Given the description of an element on the screen output the (x, y) to click on. 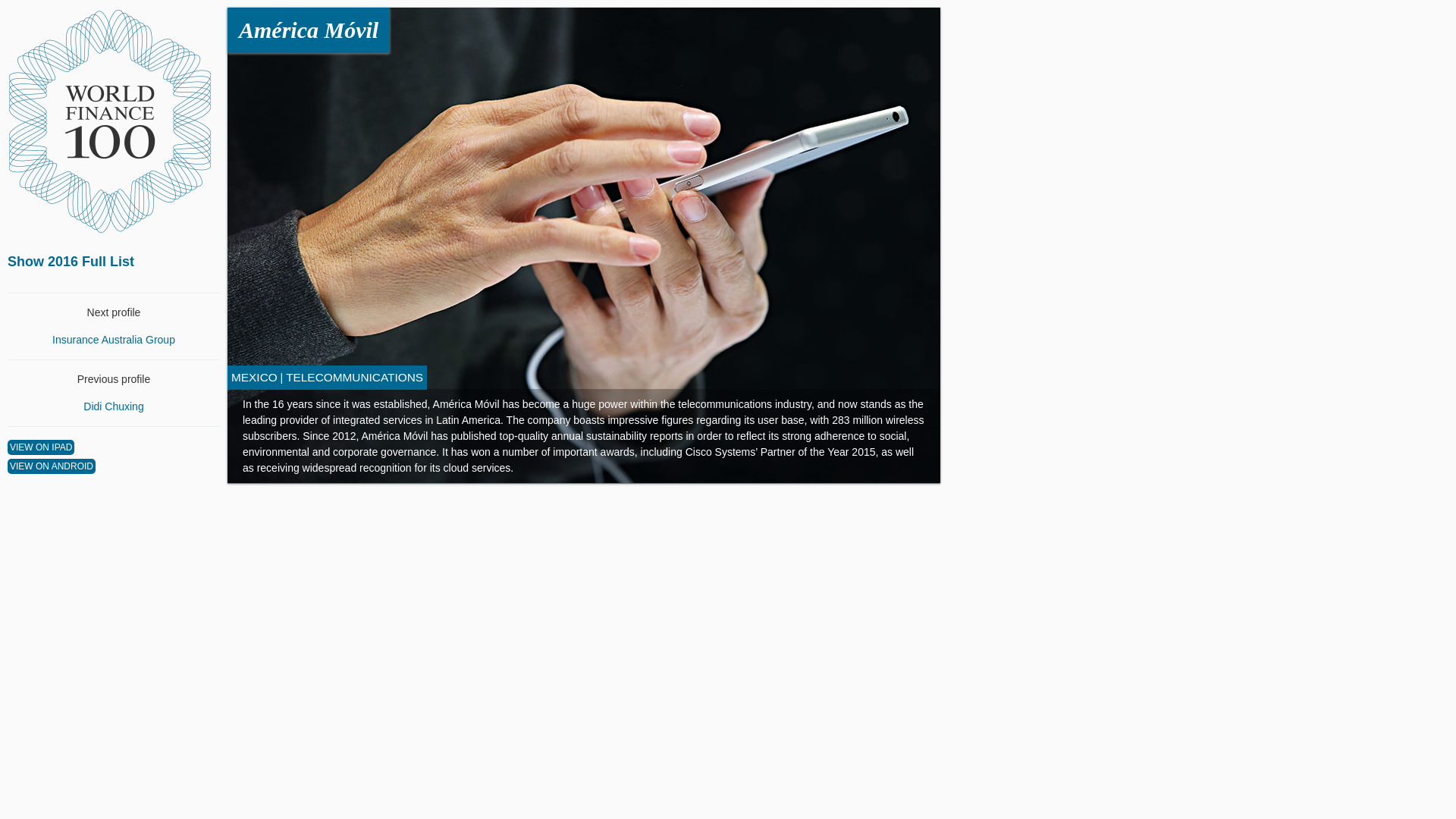
VIEW ON IPAD (40, 447)
VIEW ON ANDROID (51, 466)
Link to Insurance Australia Group (113, 339)
World Finance 2016 (112, 121)
Insurance Australia Group (113, 339)
MEXICO (254, 377)
Didi Chuxing (112, 406)
Show 2016 Full List (70, 261)
Link to iPad version (40, 447)
Link to Didi Chuxing (112, 406)
TELECOMMUNICATIONS (354, 377)
Link to Android version (51, 466)
